Given the description of an element on the screen output the (x, y) to click on. 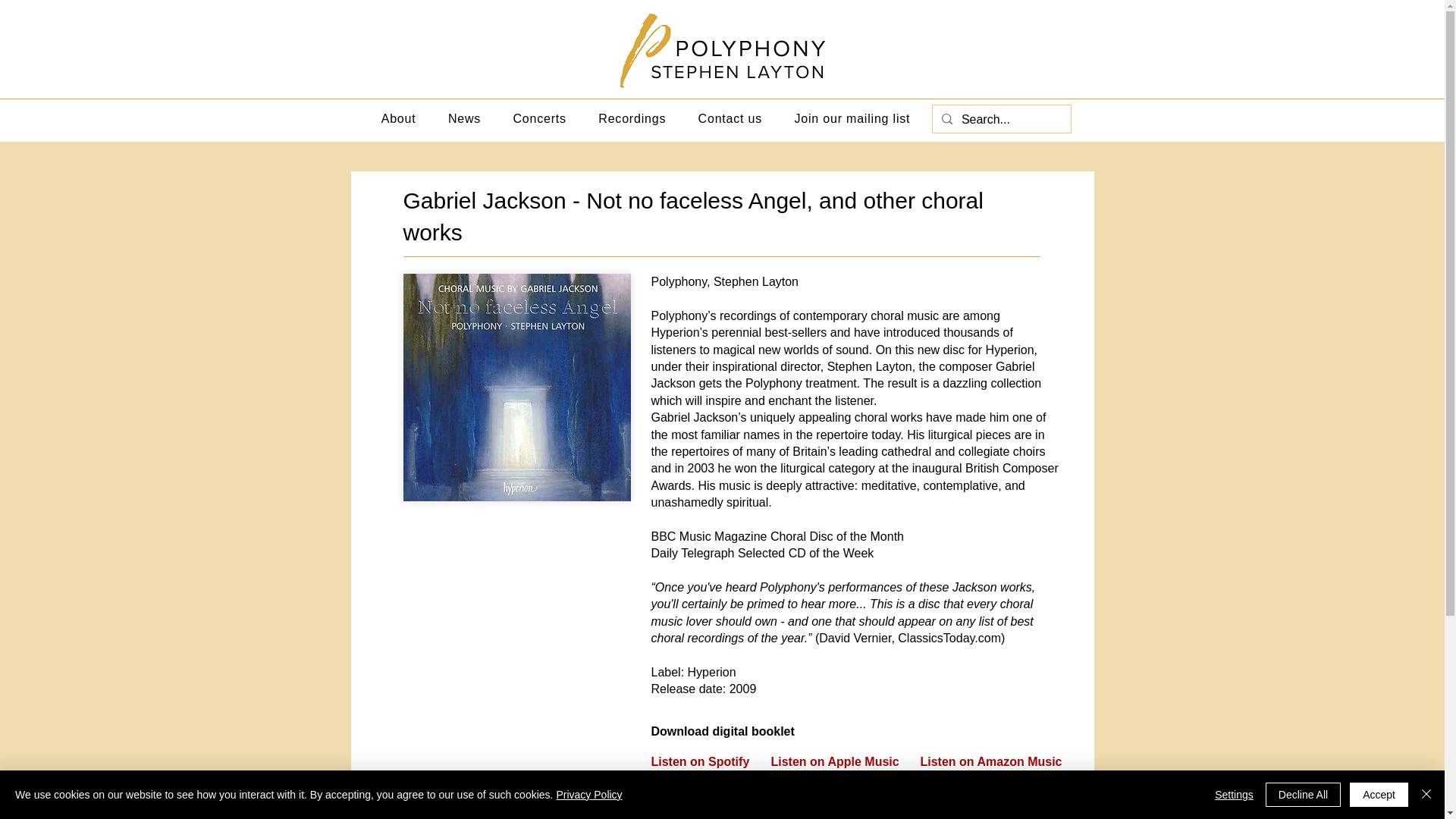
Listen on Apple Music (834, 761)
Listen on Spotify (699, 761)
News (465, 118)
Concerts (539, 118)
Privacy Policy (588, 794)
Accept (1378, 794)
Contact us (729, 118)
Listen on Amazon Music (991, 761)
Recordings (631, 118)
Download digital booklet (763, 731)
Join our mailing list (851, 118)
About (398, 118)
Decline All (1302, 794)
